Given the description of an element on the screen output the (x, y) to click on. 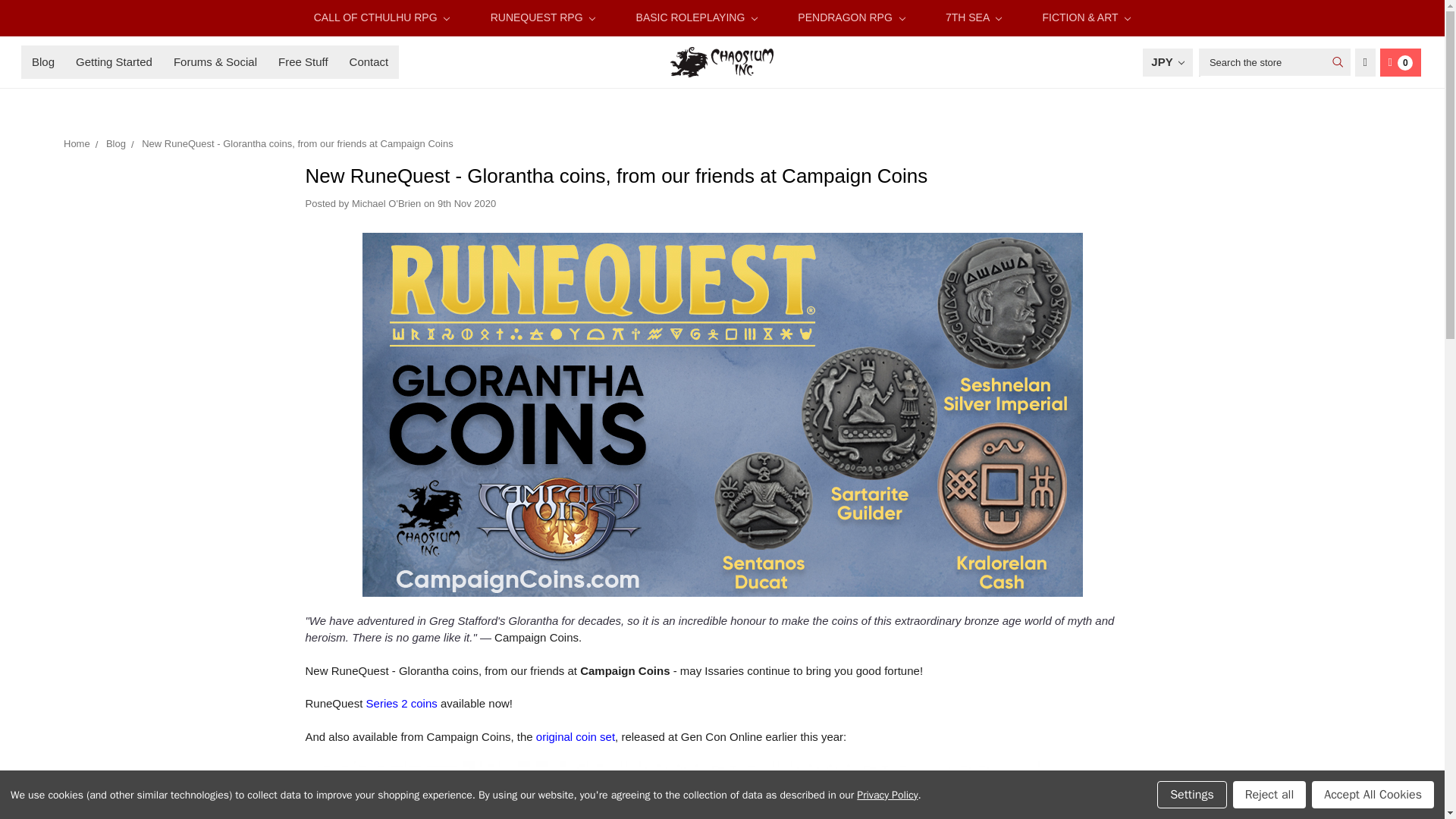
Campaign Coins RuneQuest Glorantha Coins (683, 790)
Chaosium Inc. (721, 61)
RUNEQUEST RPG (542, 18)
PENDRAGON RPG (851, 18)
BASIC ROLEPLAYING (696, 18)
CALL OF CTHULHU RPG (382, 18)
